Given the description of an element on the screen output the (x, y) to click on. 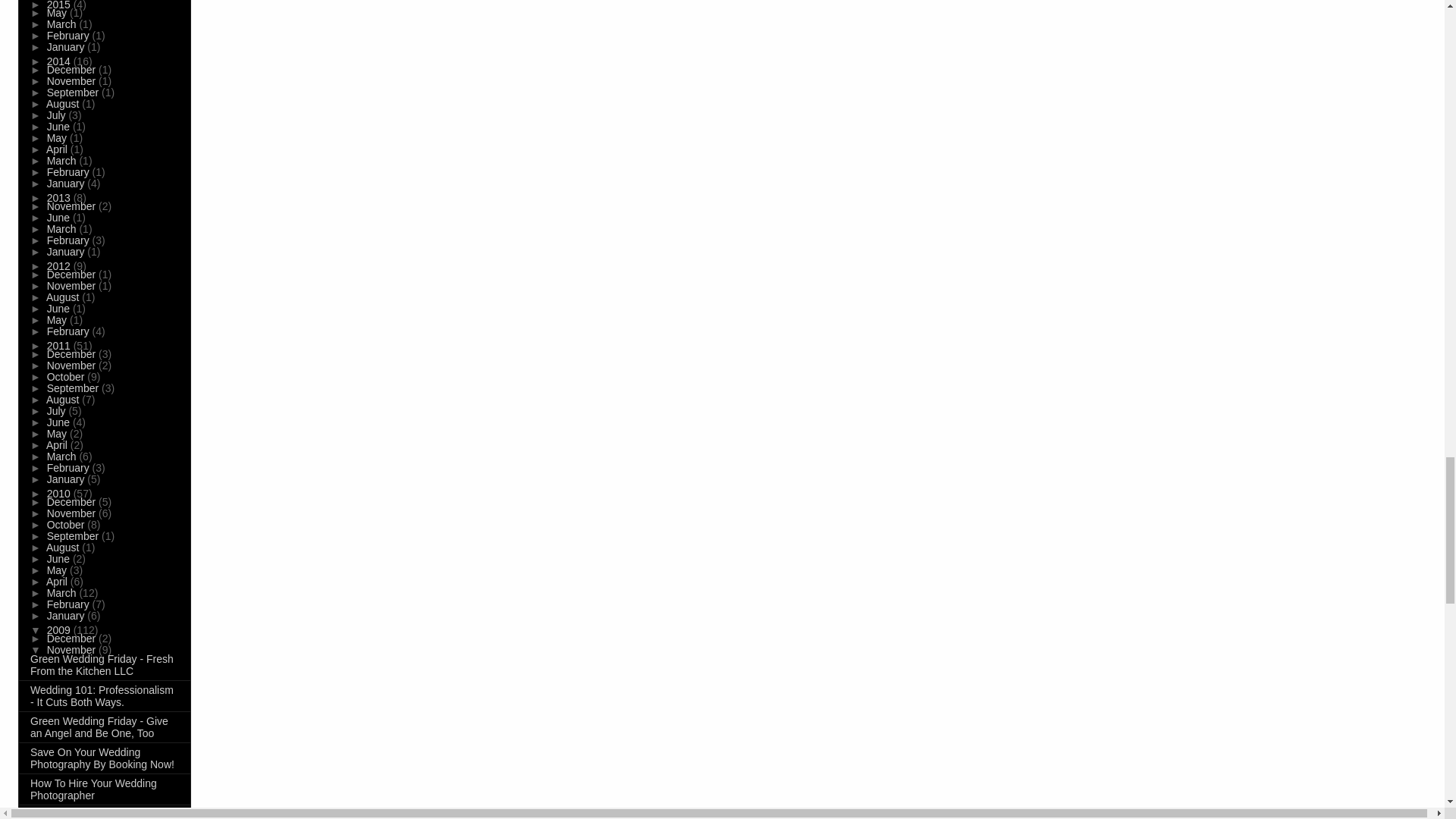
2015 (60, 5)
May (57, 12)
